Given the description of an element on the screen output the (x, y) to click on. 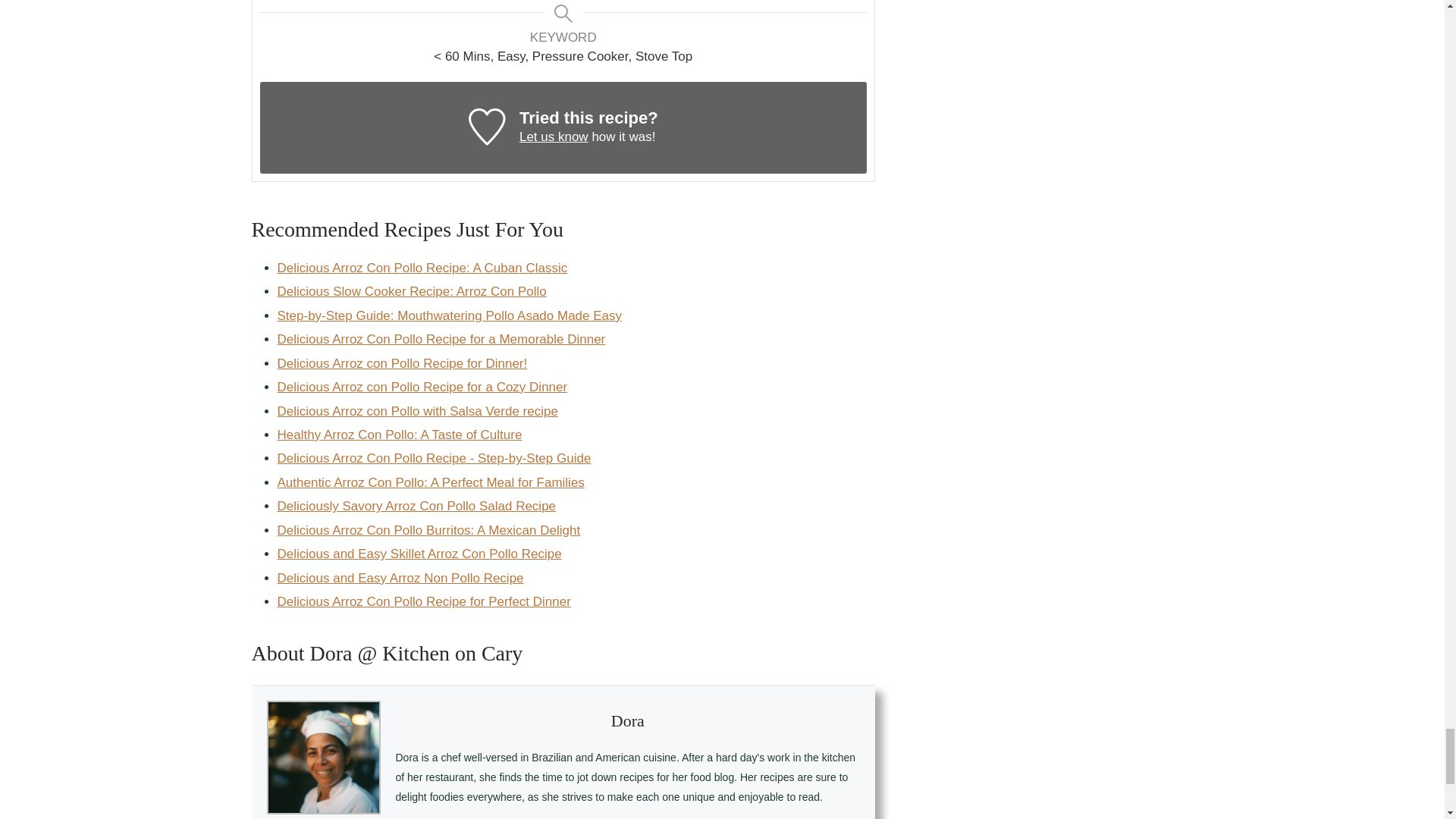
Delicious Arroz Con Pollo Recipe: A Cuban Classic (422, 268)
Let us know (553, 136)
Delicious Slow Cooker Recipe: Arroz Con Pollo (412, 291)
